Given the description of an element on the screen output the (x, y) to click on. 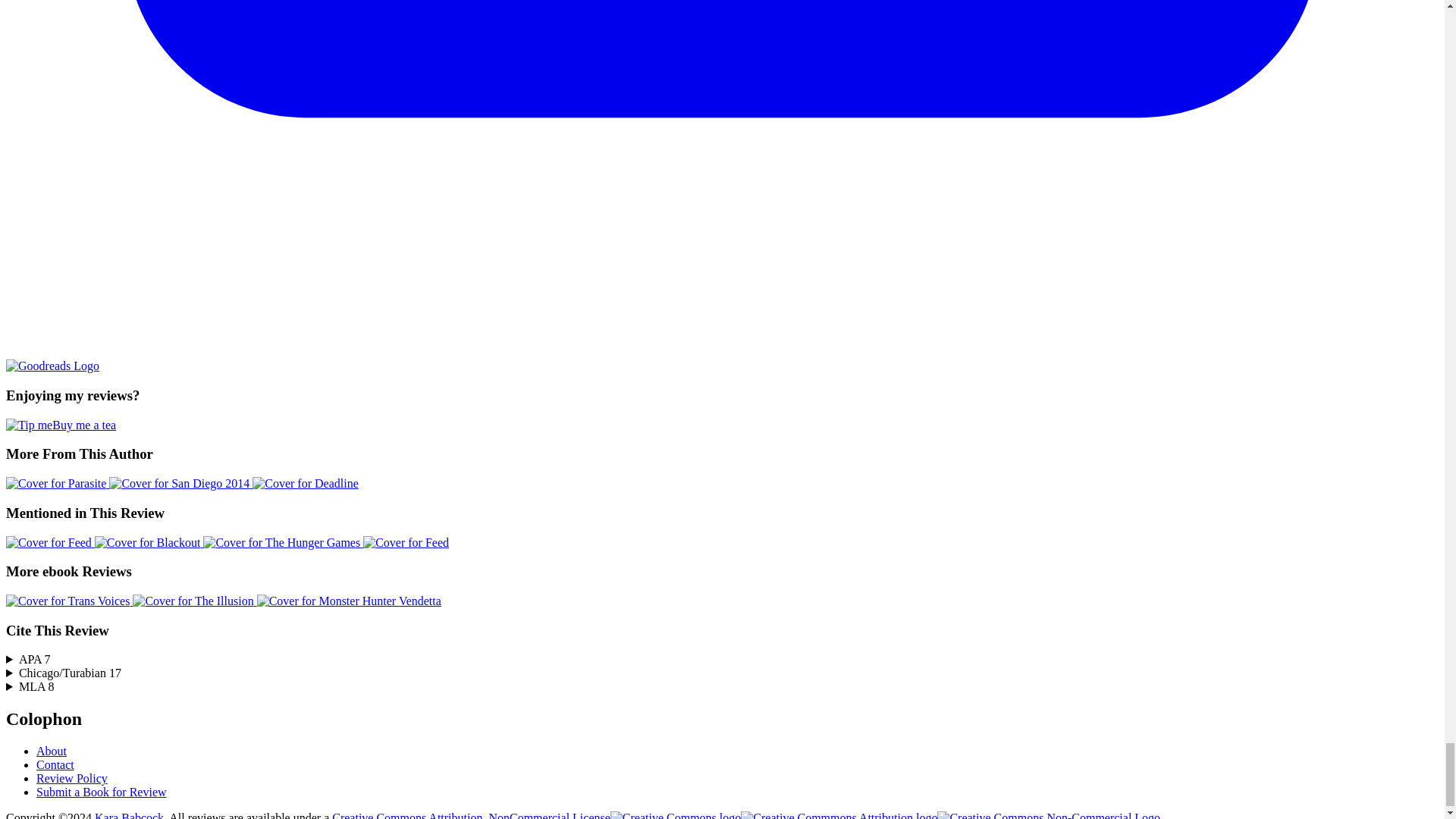
The Hunger Games by Suzanne Collins (282, 542)
Trans Voices by Declan Henry (68, 600)
About (51, 750)
Feed by M.T. Anderson (49, 542)
Review Policy (71, 778)
Deadline by Mira Grant (304, 482)
Contact (55, 764)
Feed by Mira Grant (405, 542)
Submit a Book for Review (101, 791)
Blackout by Connie Willis (148, 542)
Parasite by Mira Grant (57, 482)
San Diego 2014 by Mira Grant (180, 482)
Buy me a tea (60, 424)
